Given the description of an element on the screen output the (x, y) to click on. 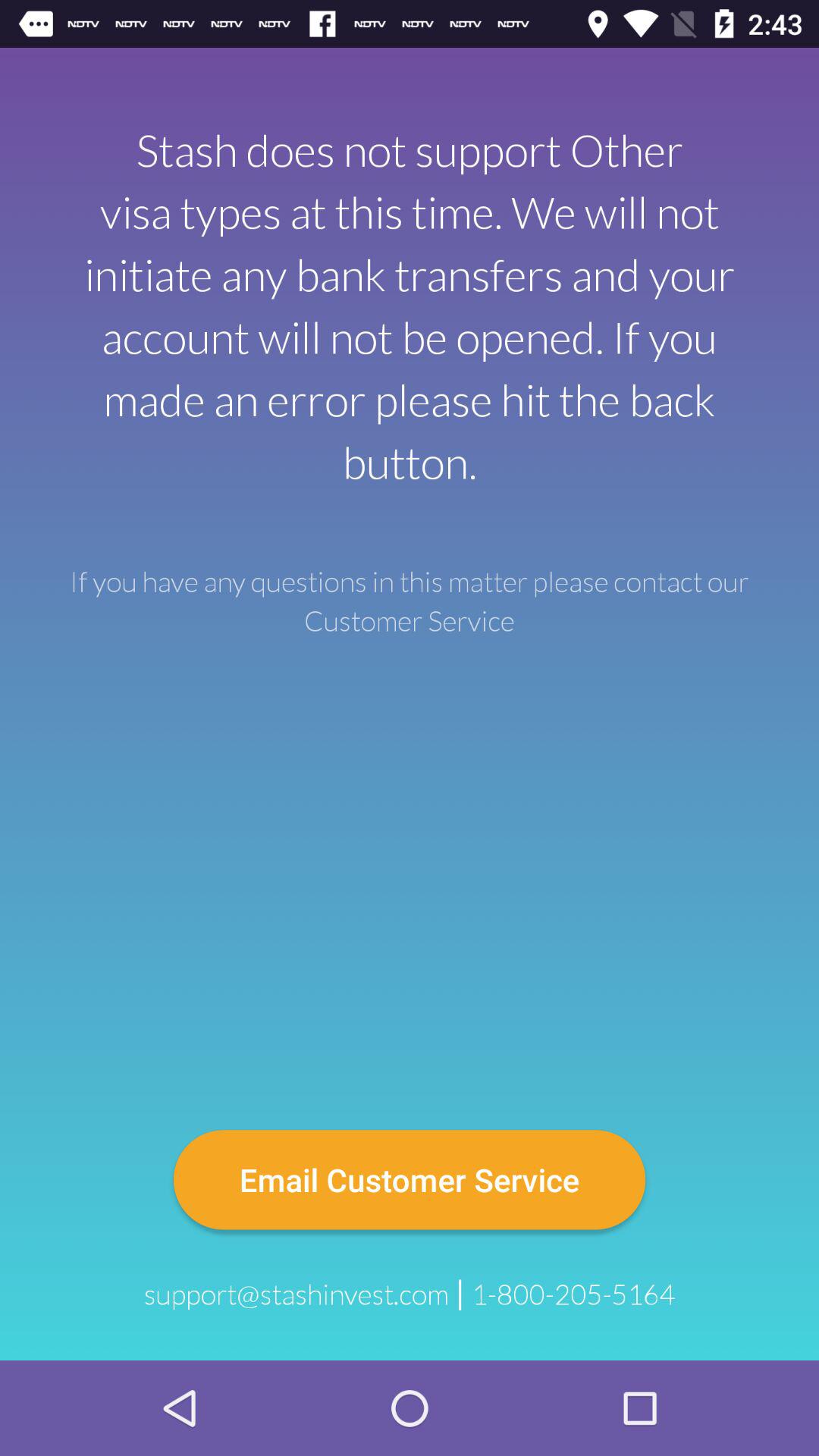
tap icon below the email customer service icon (295, 1294)
